Given the description of an element on the screen output the (x, y) to click on. 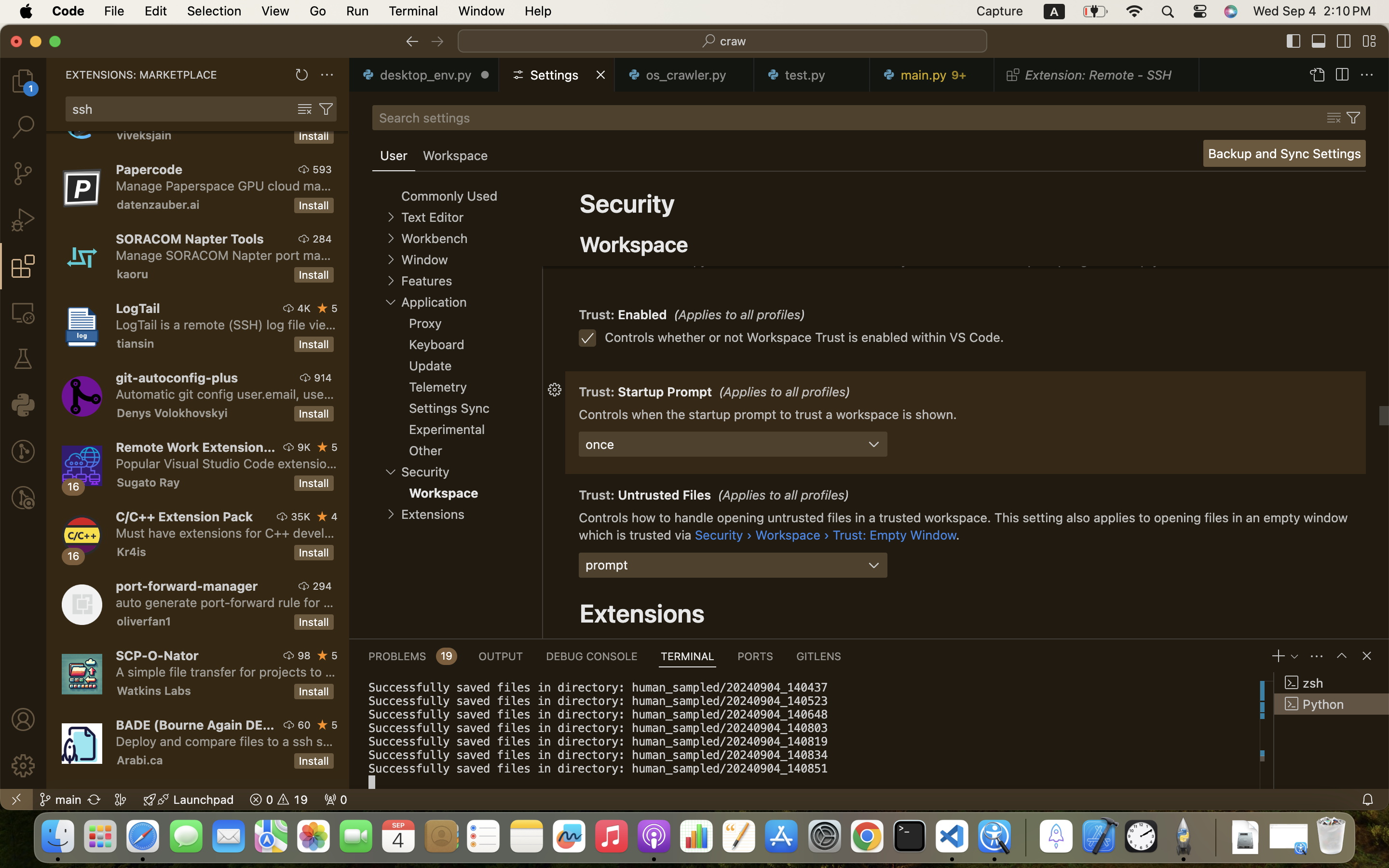
SCP-O-Nator Element type: AXStaticText (156, 655)
Kr4is Element type: AXStaticText (131, 551)
oliverfan1 Element type: AXStaticText (143, 620)
datenzauber.ai Element type: AXStaticText (157, 204)
1 TERMINAL Element type: AXRadioButton (687, 655)
